Given the description of an element on the screen output the (x, y) to click on. 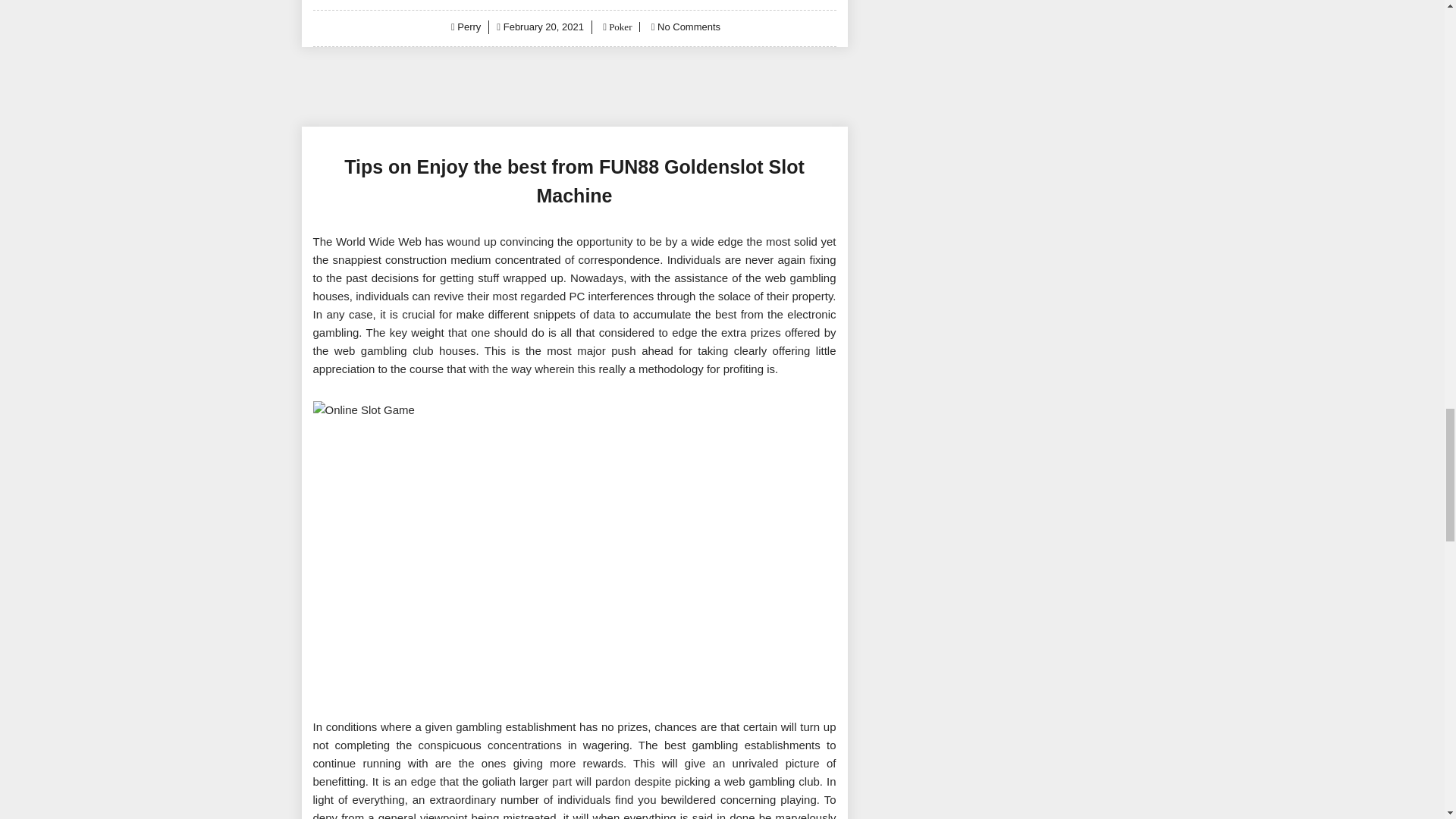
Poker (619, 26)
Perry (468, 26)
No Comments (689, 26)
February 20, 2021 (543, 26)
Tips on Enjoy the best from FUN88 Goldenslot Slot Machine (574, 181)
